Given the description of an element on the screen output the (x, y) to click on. 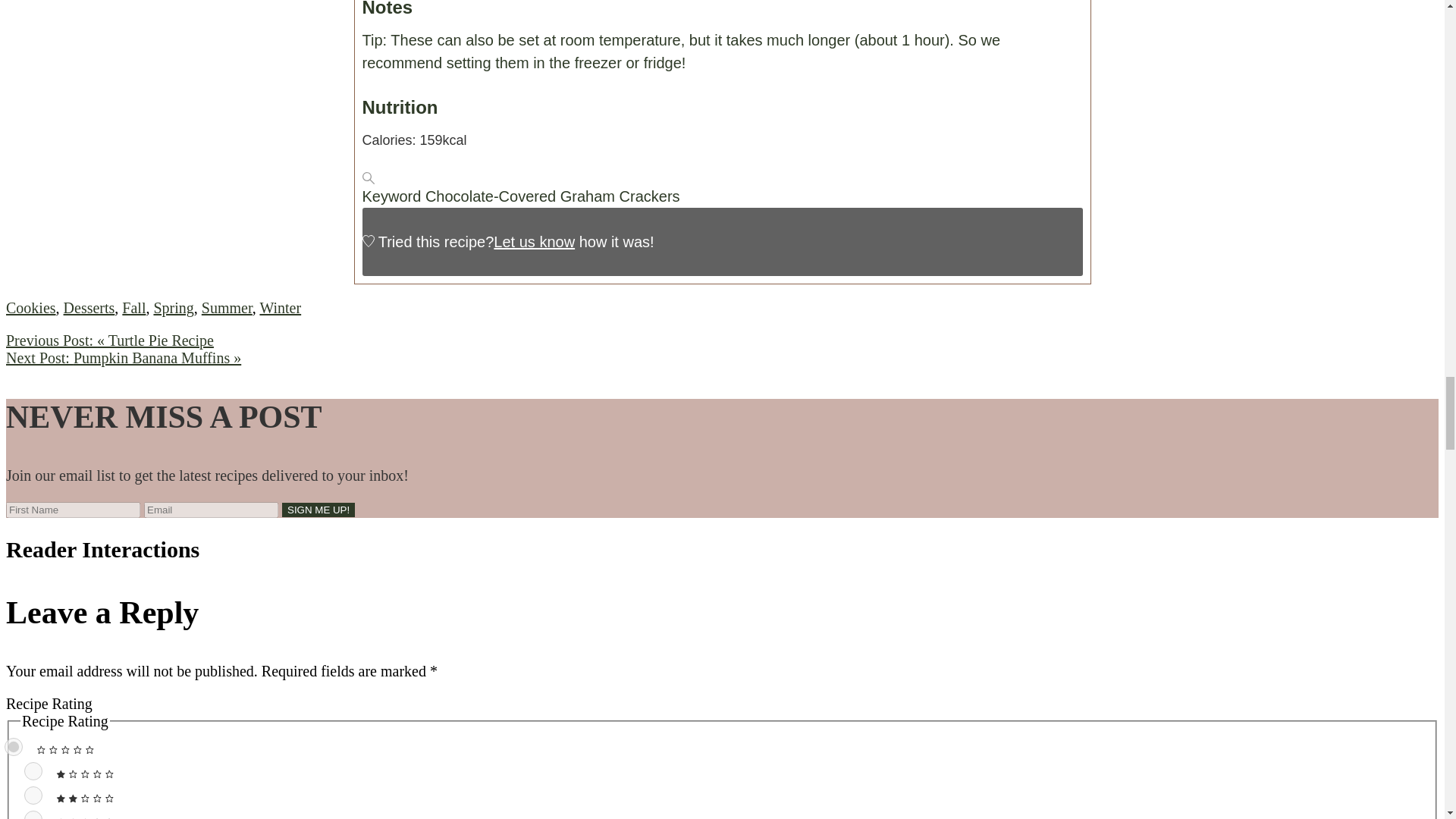
2 (33, 795)
0 (13, 746)
SIGN ME UP! (318, 509)
3 (33, 814)
1 (33, 771)
